Given the description of an element on the screen output the (x, y) to click on. 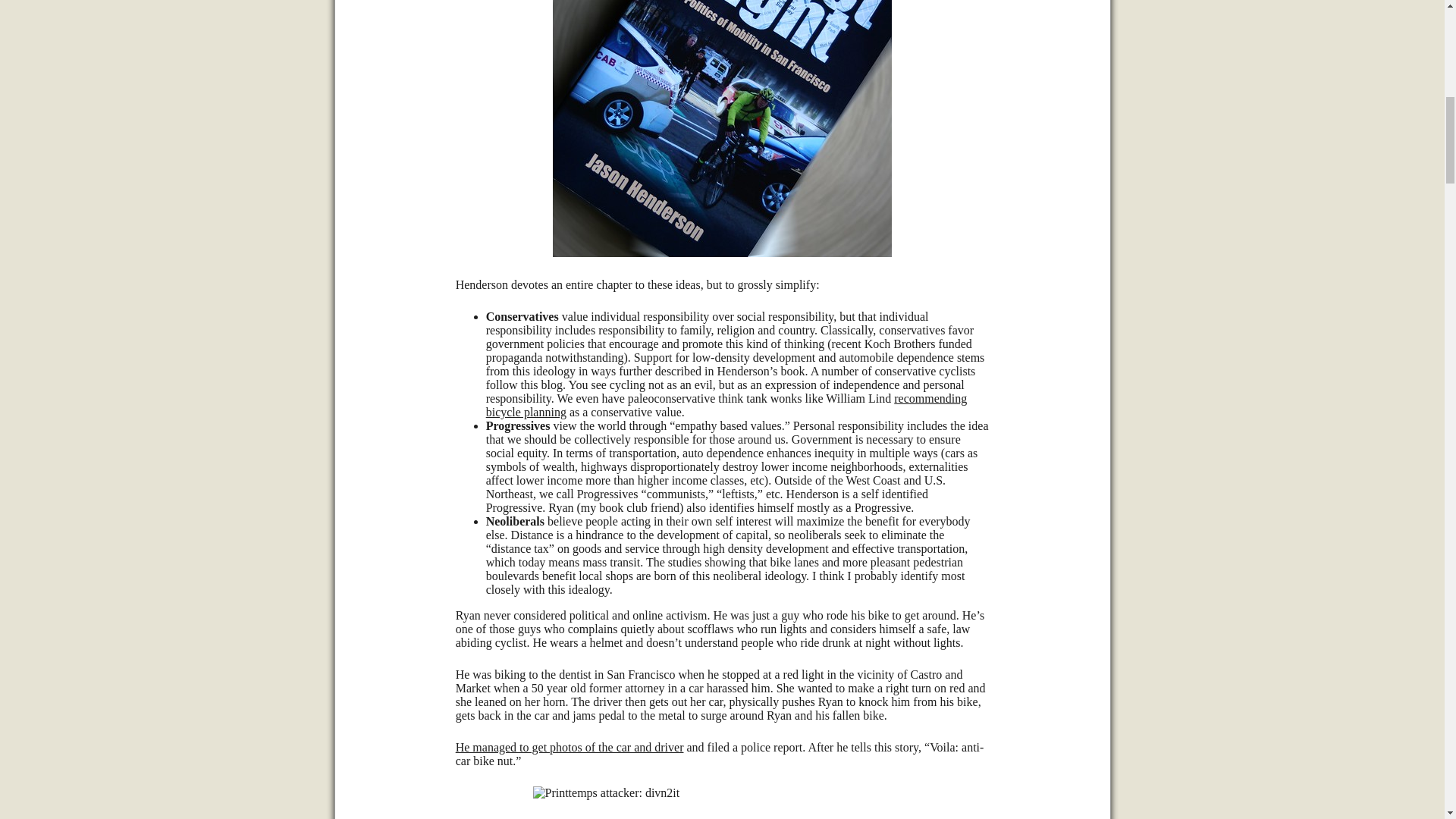
He managed to get photos of the car and driver (569, 747)
recommending bicycle planning (727, 405)
